Given the description of an element on the screen output the (x, y) to click on. 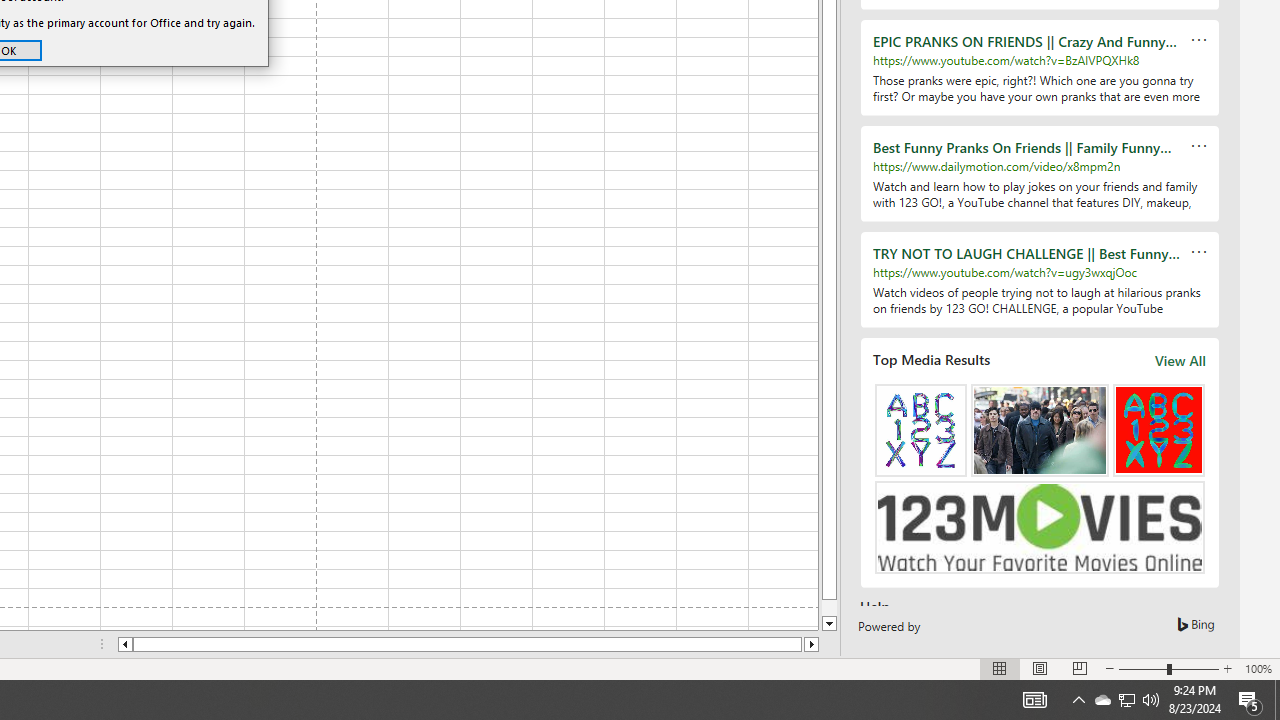
Notification Chevron (1078, 699)
Q2790: 100% (1151, 699)
